Given the description of an element on the screen output the (x, y) to click on. 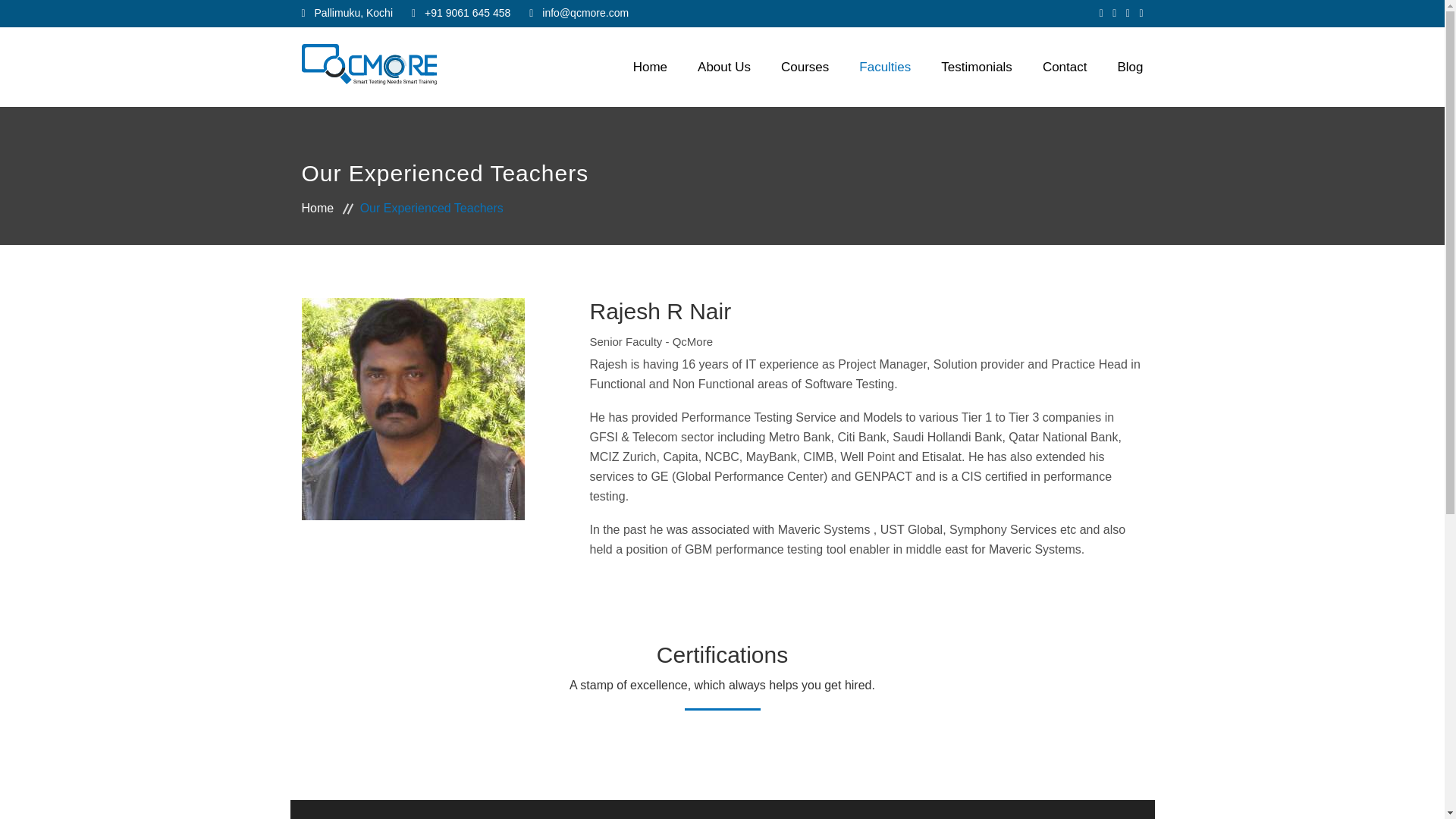
Home (328, 207)
Testimonials (975, 67)
